Given the description of an element on the screen output the (x, y) to click on. 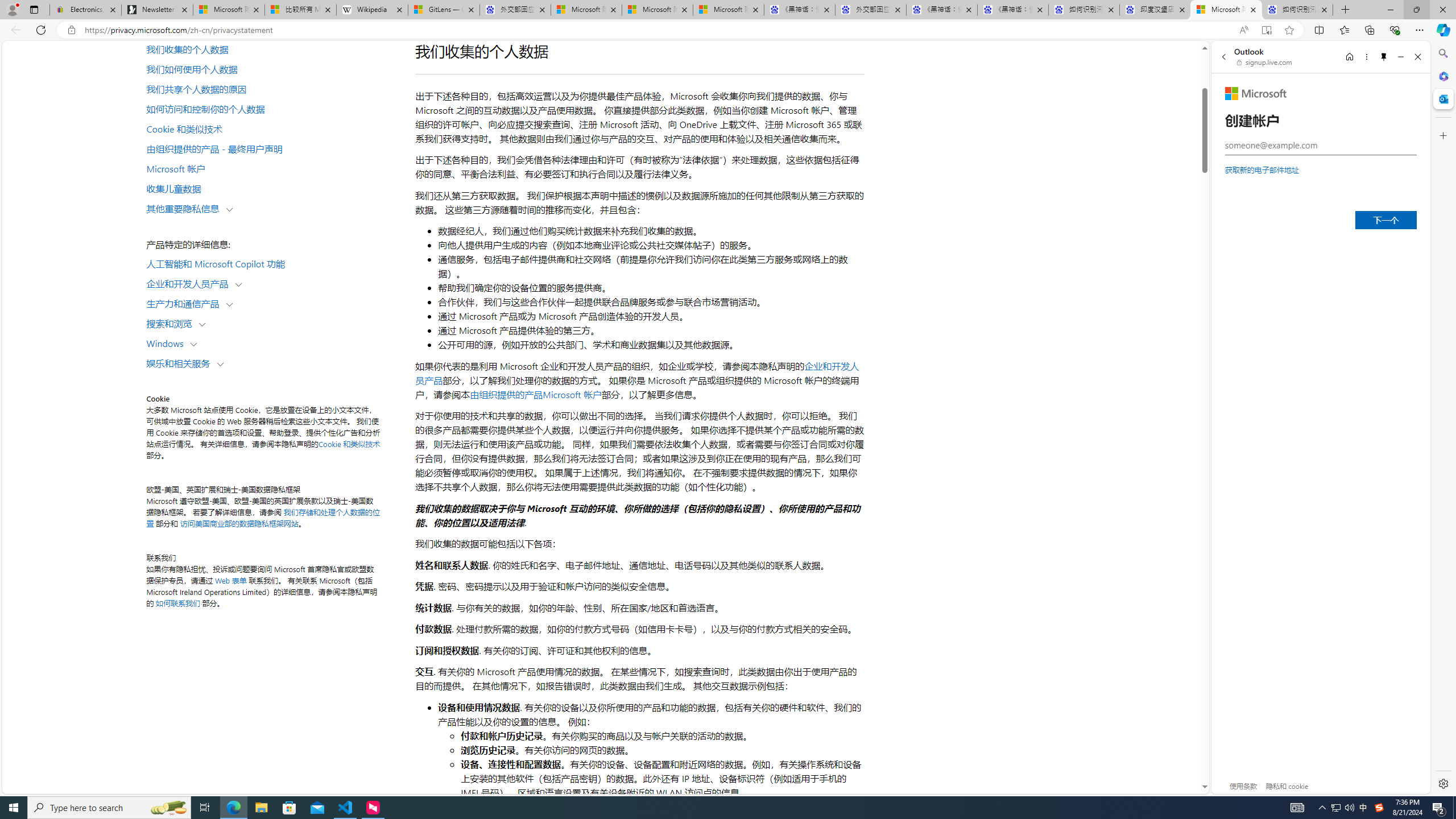
Close Outlook pane (1442, 98)
